Given the description of an element on the screen output the (x, y) to click on. 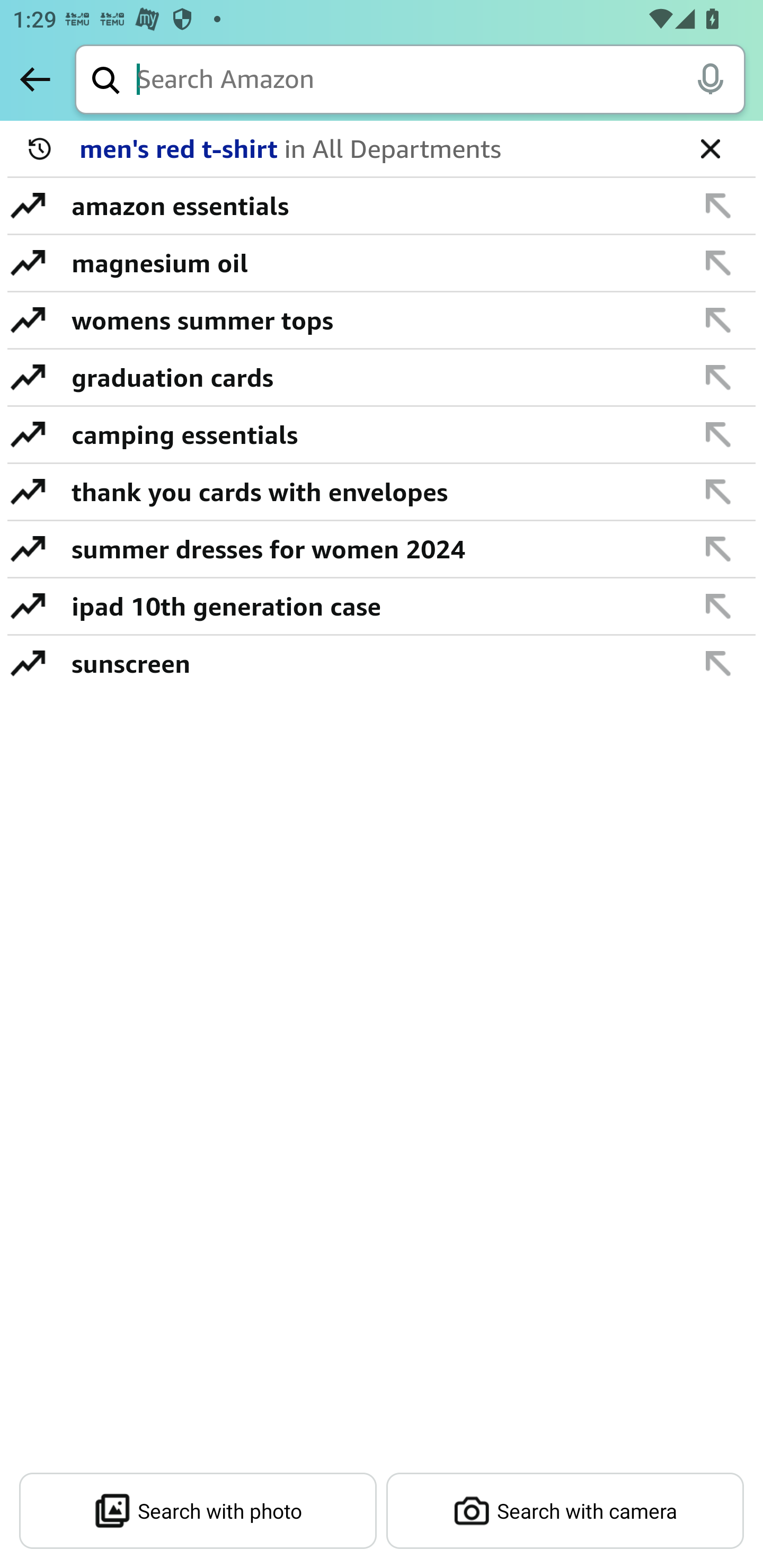
Search Amazon (440, 80)
Back (35, 78)
Alexa (710, 78)
men's red t-shirt delete (381, 149)
men's red t-shirt (374, 149)
delete (710, 147)
amazon essentials (370, 205)
amazon essentials append suggestion (381, 206)
append suggestion (718, 205)
magnesium oil (370, 262)
magnesium oil append suggestion (381, 263)
append suggestion (718, 262)
womens summer tops (370, 319)
womens summer tops append suggestion (381, 320)
append suggestion (718, 319)
graduation cards (370, 377)
graduation cards append suggestion (381, 377)
append suggestion (718, 376)
camping essentials (370, 434)
camping essentials append suggestion (381, 435)
append suggestion (718, 434)
thank you cards with envelopes (370, 491)
thank you cards with envelopes append suggestion (381, 492)
append suggestion (718, 491)
summer dresses for women 2024 (370, 548)
summer dresses for women 2024 append suggestion (381, 549)
append suggestion (718, 548)
ipad 10th generation case (370, 606)
ipad 10th generation case append suggestion (381, 606)
append suggestion (718, 605)
sunscreen (370, 663)
sunscreen append suggestion (381, 663)
append suggestion (718, 663)
Search with photo (197, 1510)
Search with camera (564, 1510)
